Given the description of an element on the screen output the (x, y) to click on. 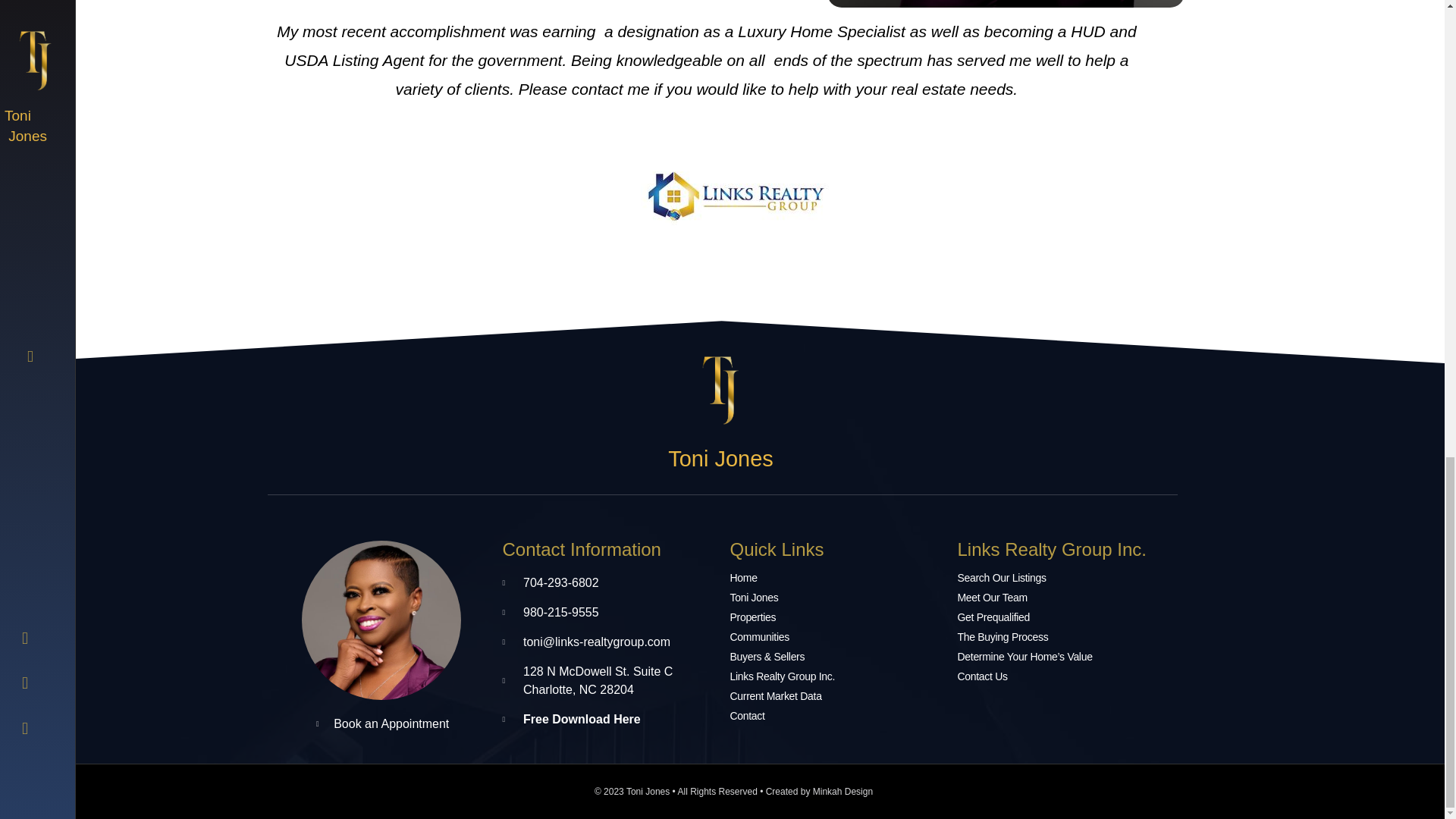
Links Realty Group Inc. (835, 676)
Current Market Data (835, 696)
Free Download Here (608, 719)
Book an Appointment (380, 723)
Toni Jones (835, 597)
Communities (835, 637)
Properties (835, 617)
Contact (835, 715)
Home (835, 578)
